Given the description of an element on the screen output the (x, y) to click on. 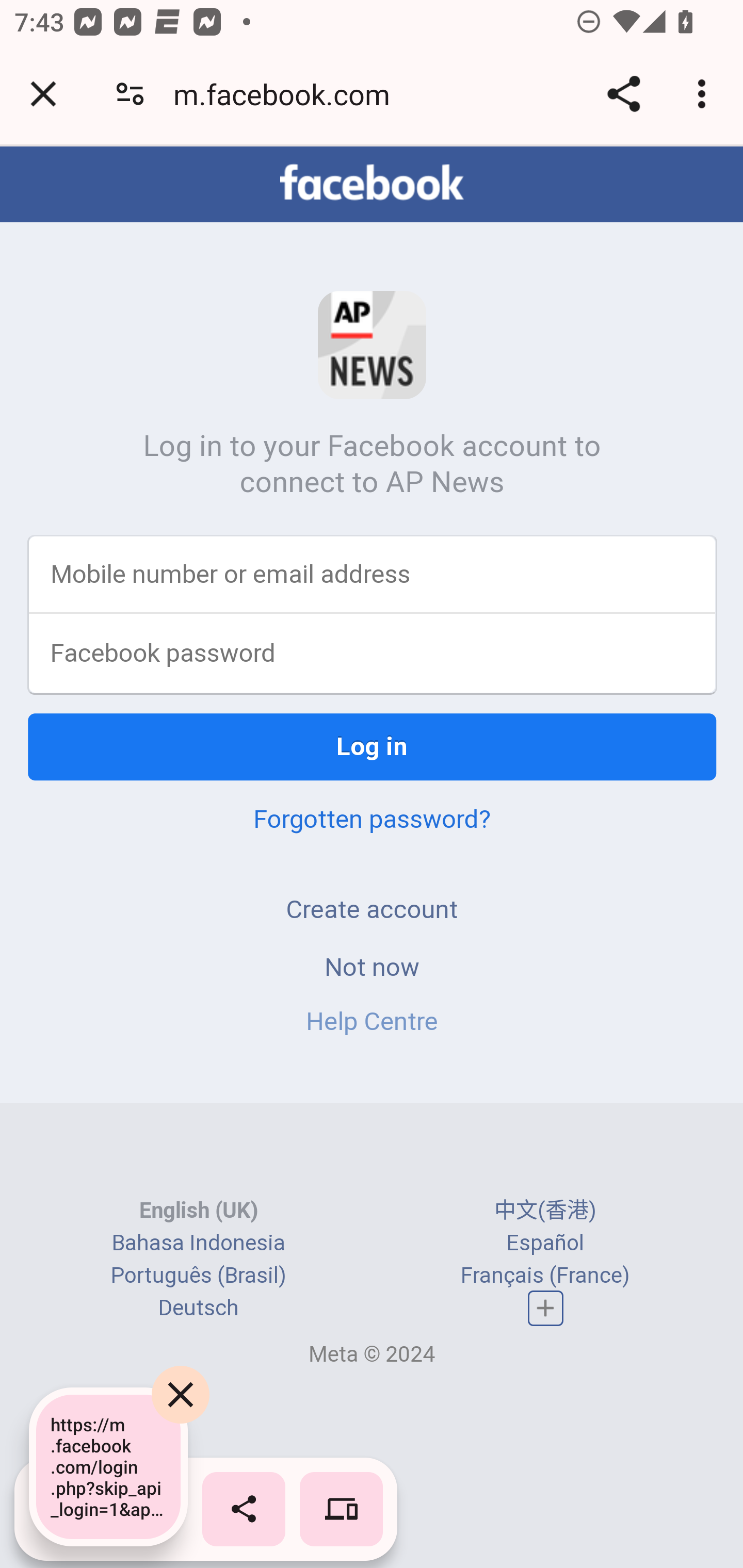
Close tab (43, 93)
Share (623, 93)
Customize and control Google Chrome (705, 93)
Connection is secure (129, 93)
m.facebook.com (288, 93)
facebook (371, 183)
Log in (372, 747)
Forgotten password? (371, 819)
Create account (371, 910)
Not now (371, 968)
Help Centre (371, 1022)
中文(香港) (544, 1211)
Bahasa Indonesia (198, 1243)
Español (545, 1243)
Português (Brasil) (197, 1276)
Français (France) (544, 1276)
Complete list of languages (545, 1309)
Deutsch (197, 1309)
